Given the description of an element on the screen output the (x, y) to click on. 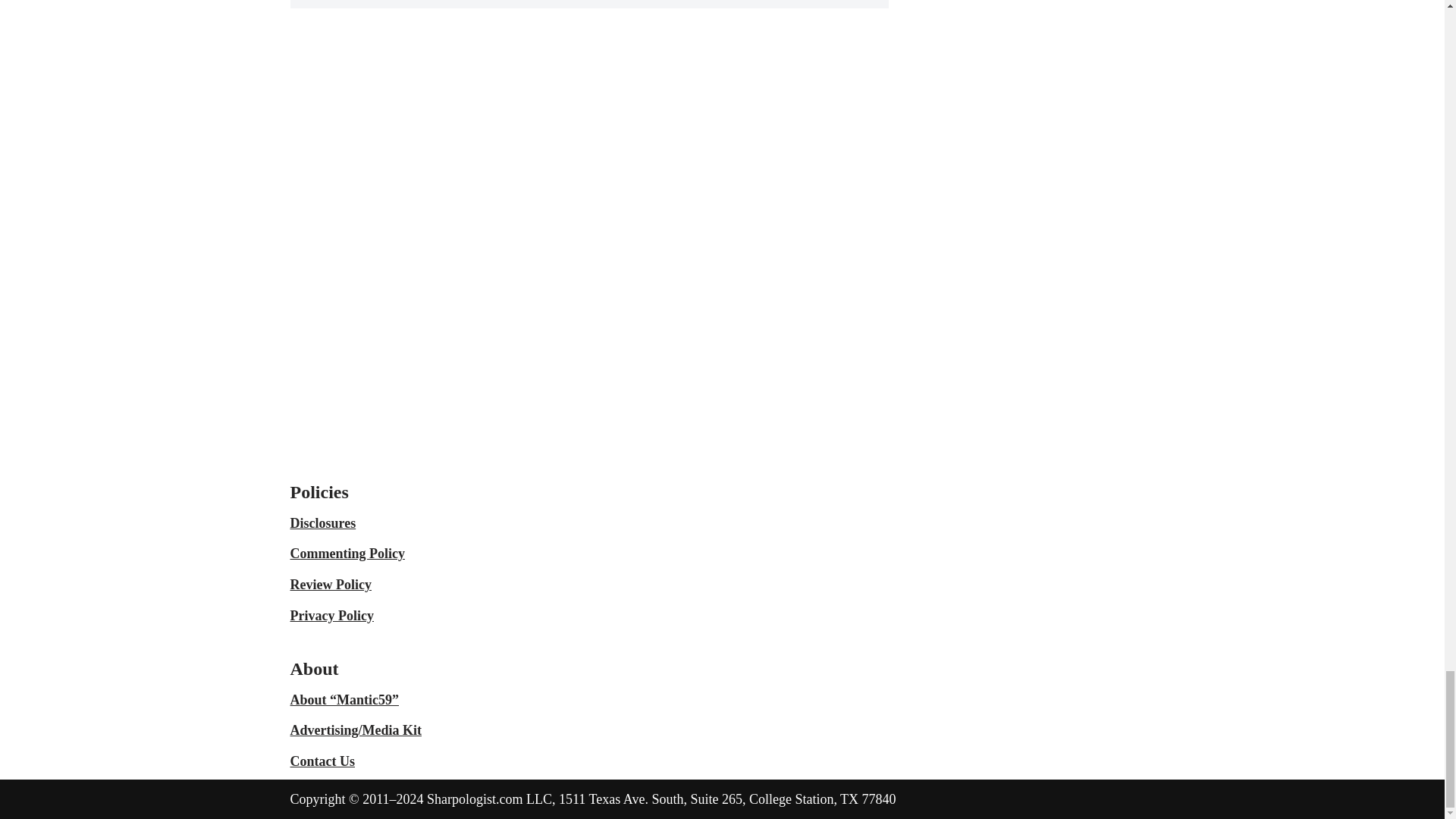
DMCA.com Protection Status (828, 457)
